Given the description of an element on the screen output the (x, y) to click on. 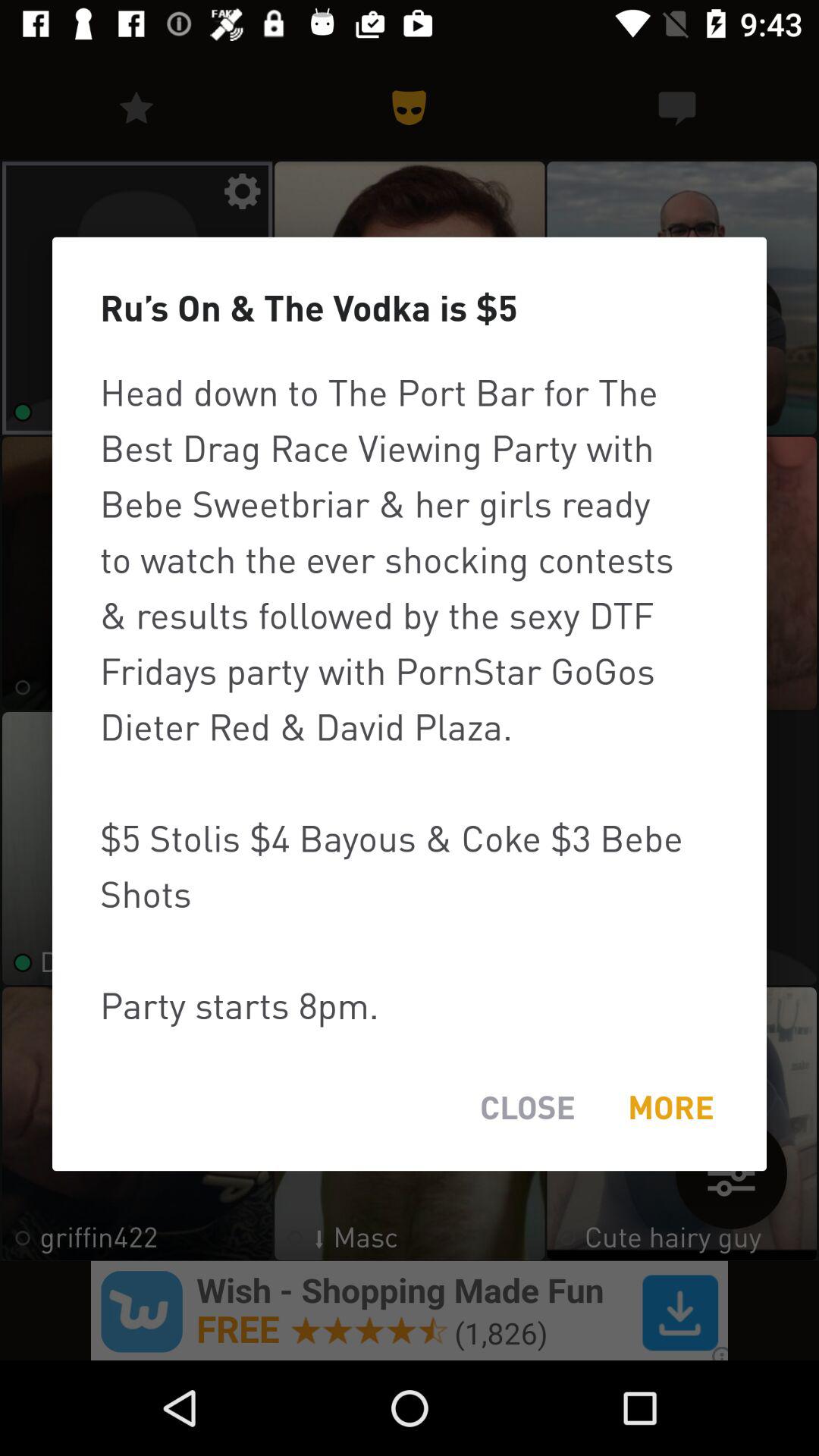
tap icon below the ru s on (409, 698)
